Given the description of an element on the screen output the (x, y) to click on. 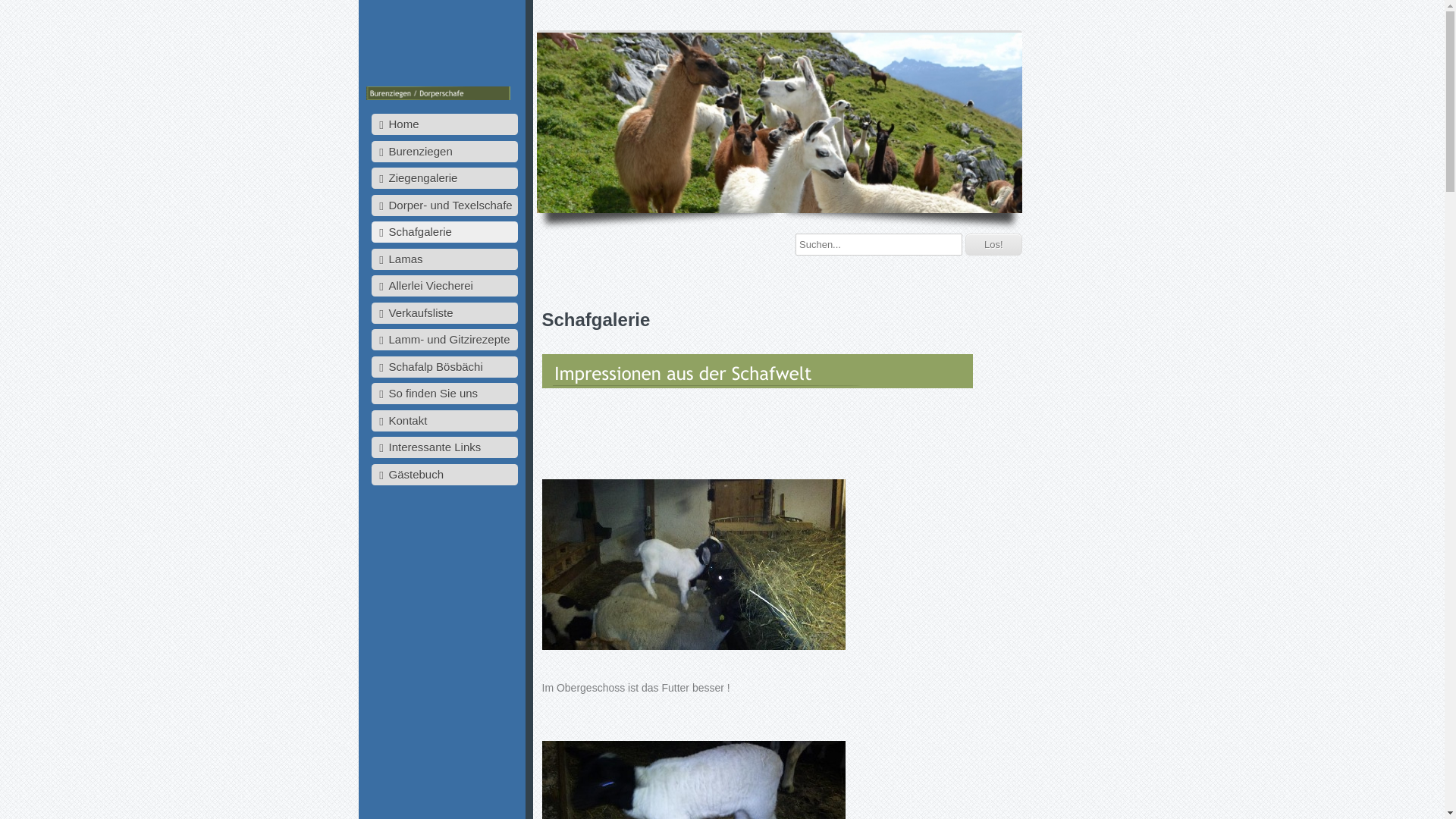
Burenziegen Element type: text (444, 151)
Lamas Element type: text (444, 258)
Interessante Links Element type: text (444, 447)
Kontakt Element type: text (444, 419)
Lamm- und Gitzirezepte Element type: text (444, 339)
Dorper- und Texelschafe Element type: text (444, 204)
So finden Sie uns Element type: text (444, 393)
Allerlei Viecherei Element type: text (444, 285)
Schafgalerie Element type: text (444, 231)
Home Element type: text (444, 123)
Los! Element type: text (993, 244)
Verkaufsliste Element type: text (444, 312)
Ziegengalerie Element type: text (444, 177)
